Given the description of an element on the screen output the (x, y) to click on. 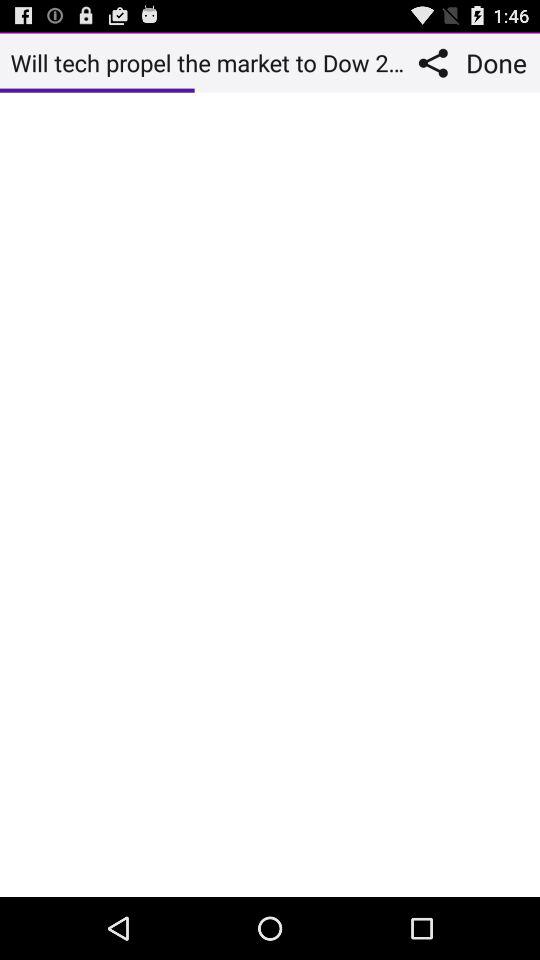
loading page (270, 494)
